Given the description of an element on the screen output the (x, y) to click on. 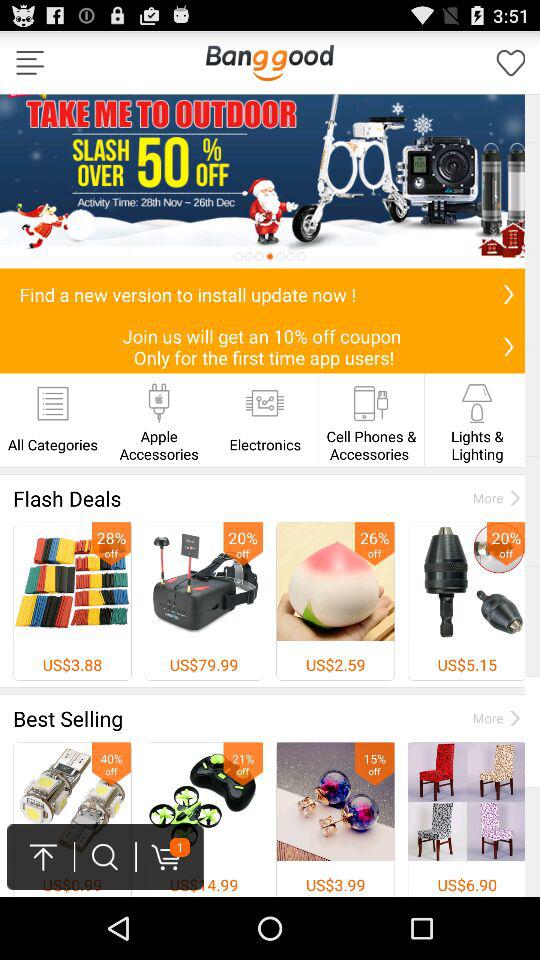
select the bang good option (269, 62)
